Given the description of an element on the screen output the (x, y) to click on. 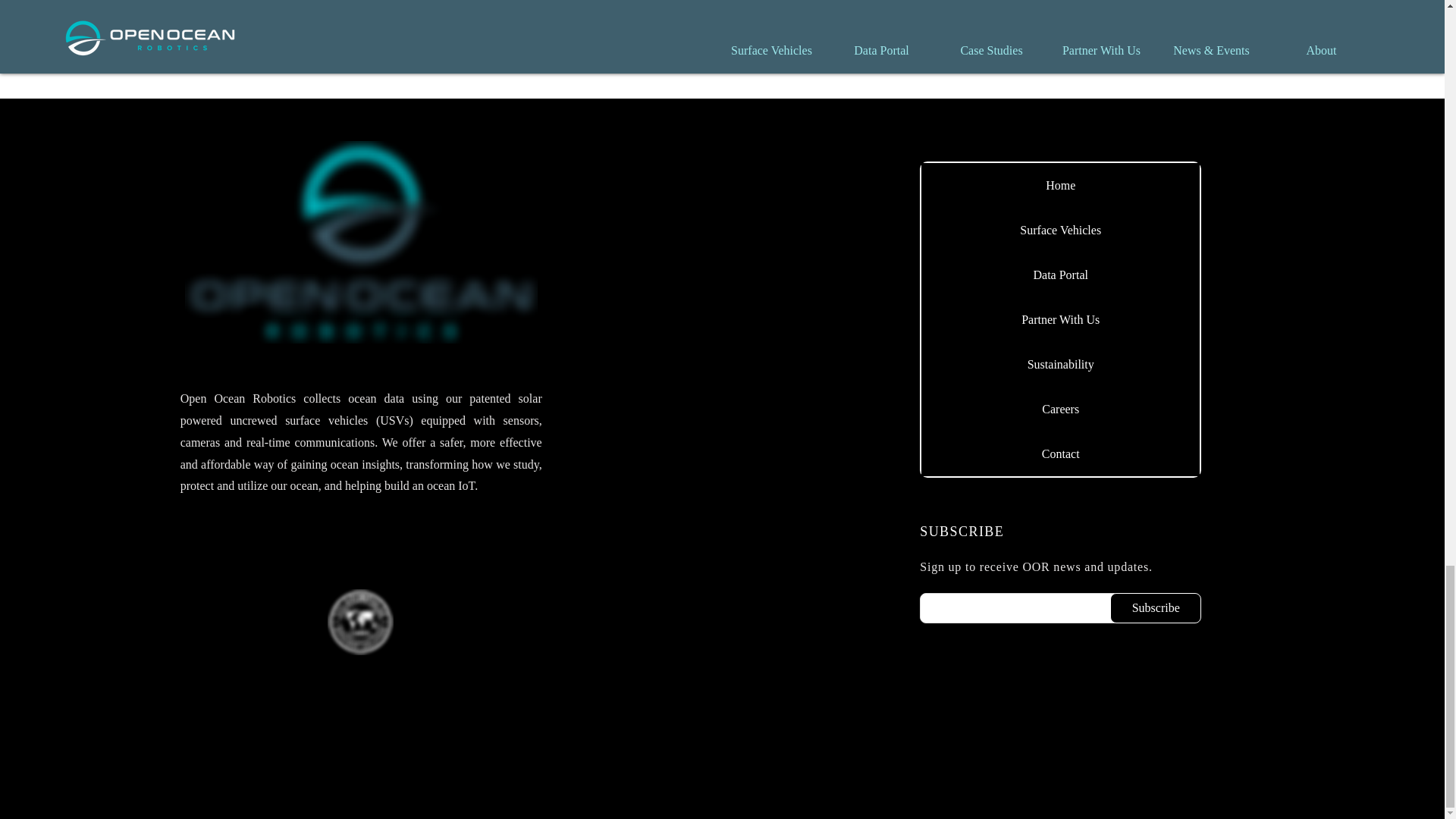
Careers (1060, 408)
Home (1060, 185)
Next (943, 33)
Data Portal (1060, 274)
Surface Vehicles (1060, 230)
Contact (1060, 453)
Partner With Us (1060, 319)
Previous (515, 33)
Sustainability (1060, 364)
Subscribe (1155, 607)
